Given the description of an element on the screen output the (x, y) to click on. 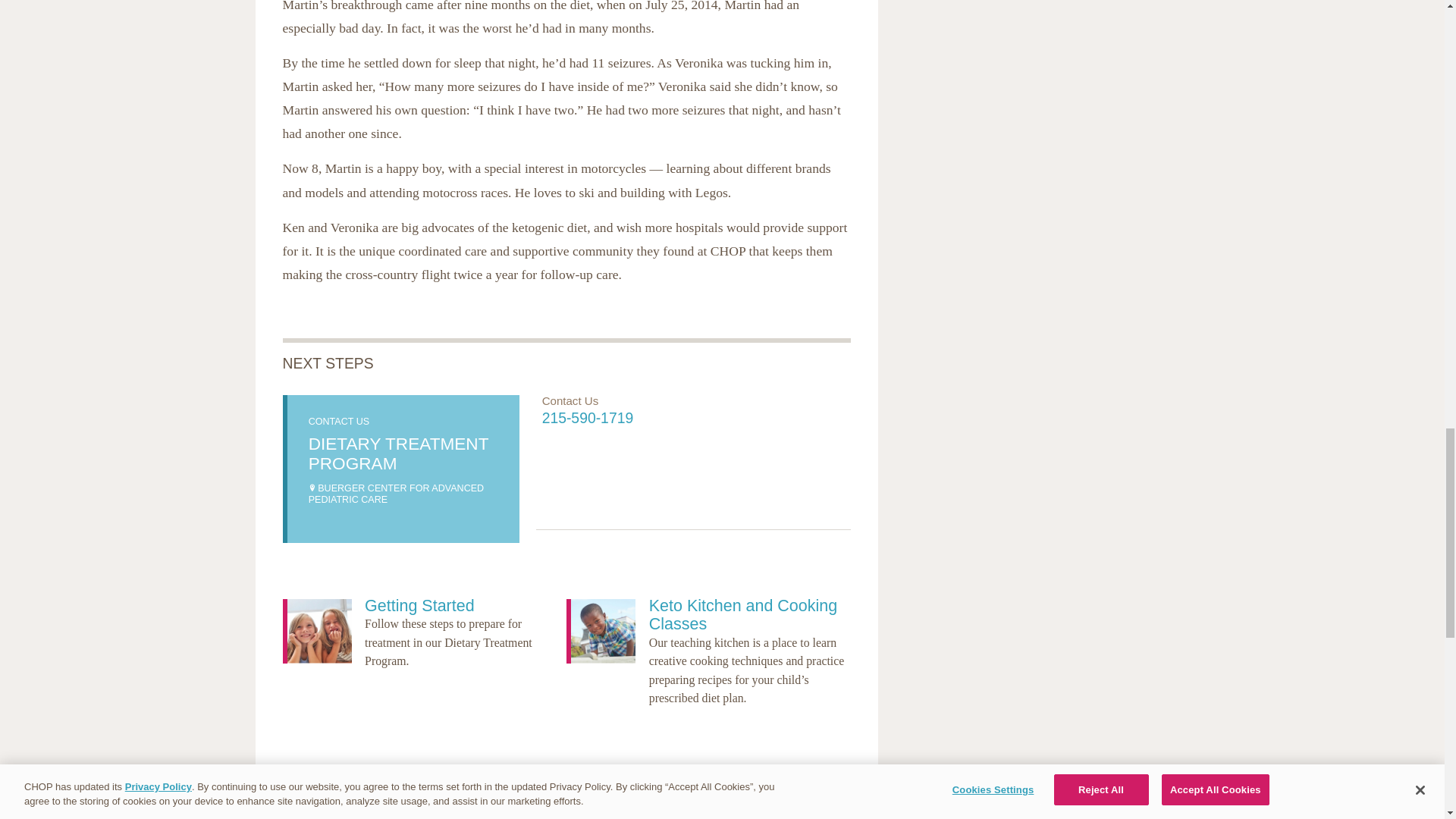
Two smiling young girls sitting at a table (318, 630)
